Given the description of an element on the screen output the (x, y) to click on. 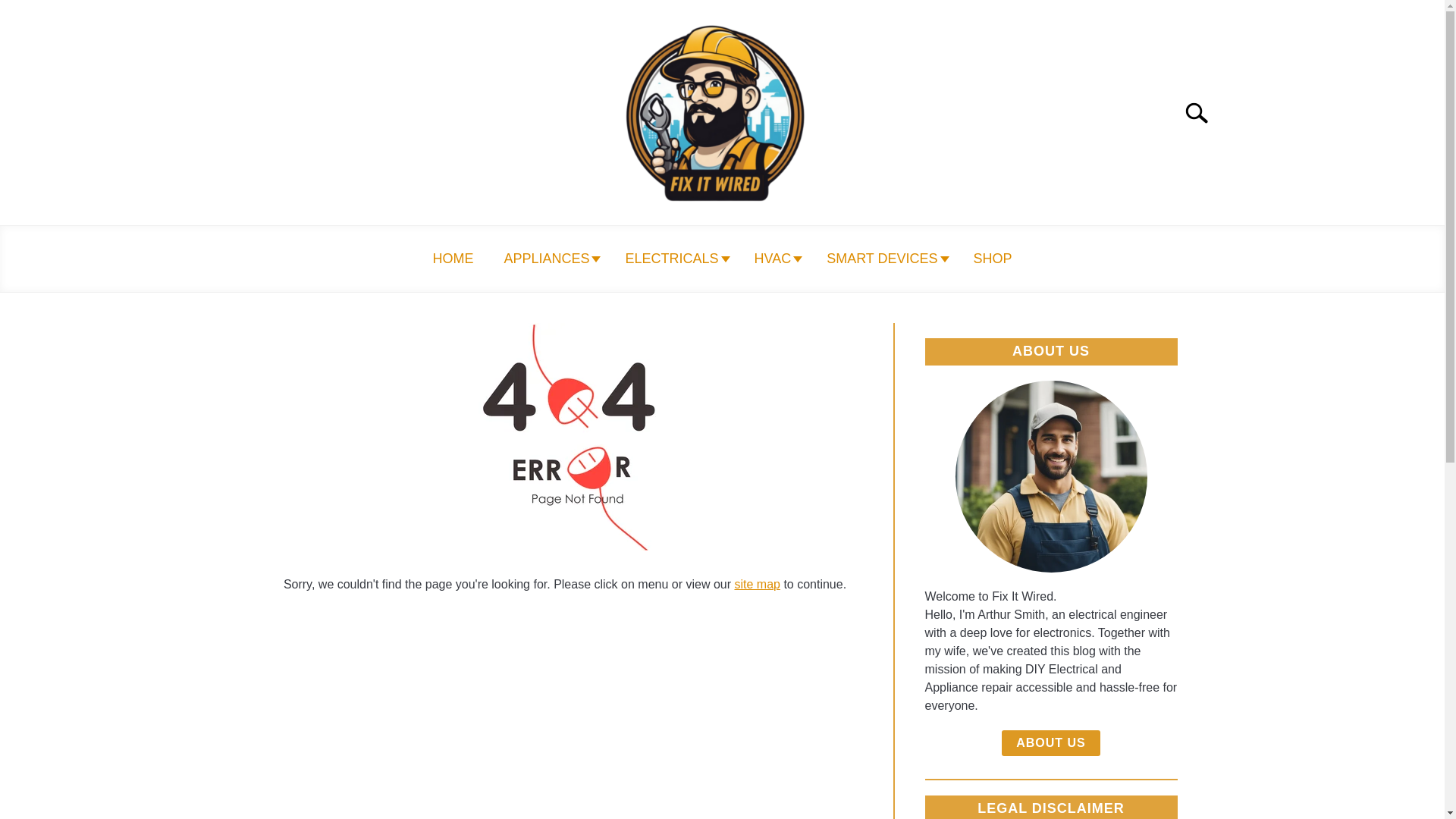
HOME (451, 258)
ELECTRICALS (674, 258)
APPLIANCES (548, 258)
HVAC (774, 258)
SMART DEVICES (884, 258)
Search (1203, 112)
